Given the description of an element on the screen output the (x, y) to click on. 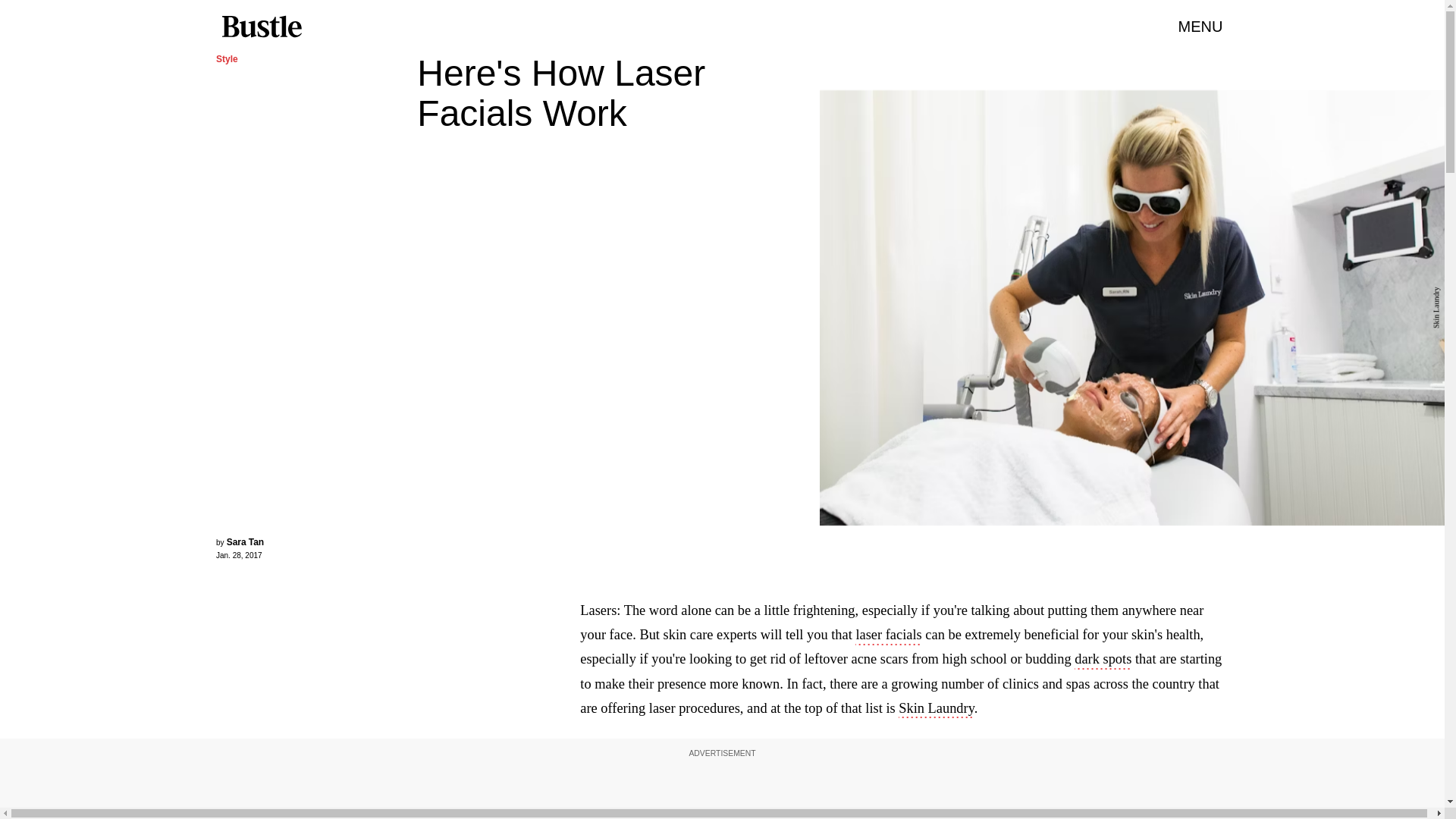
dark spots (1102, 660)
laser facials (888, 636)
Skin Laundry (936, 710)
Bustle (261, 26)
Sara Tan (245, 542)
